Given the description of an element on the screen output the (x, y) to click on. 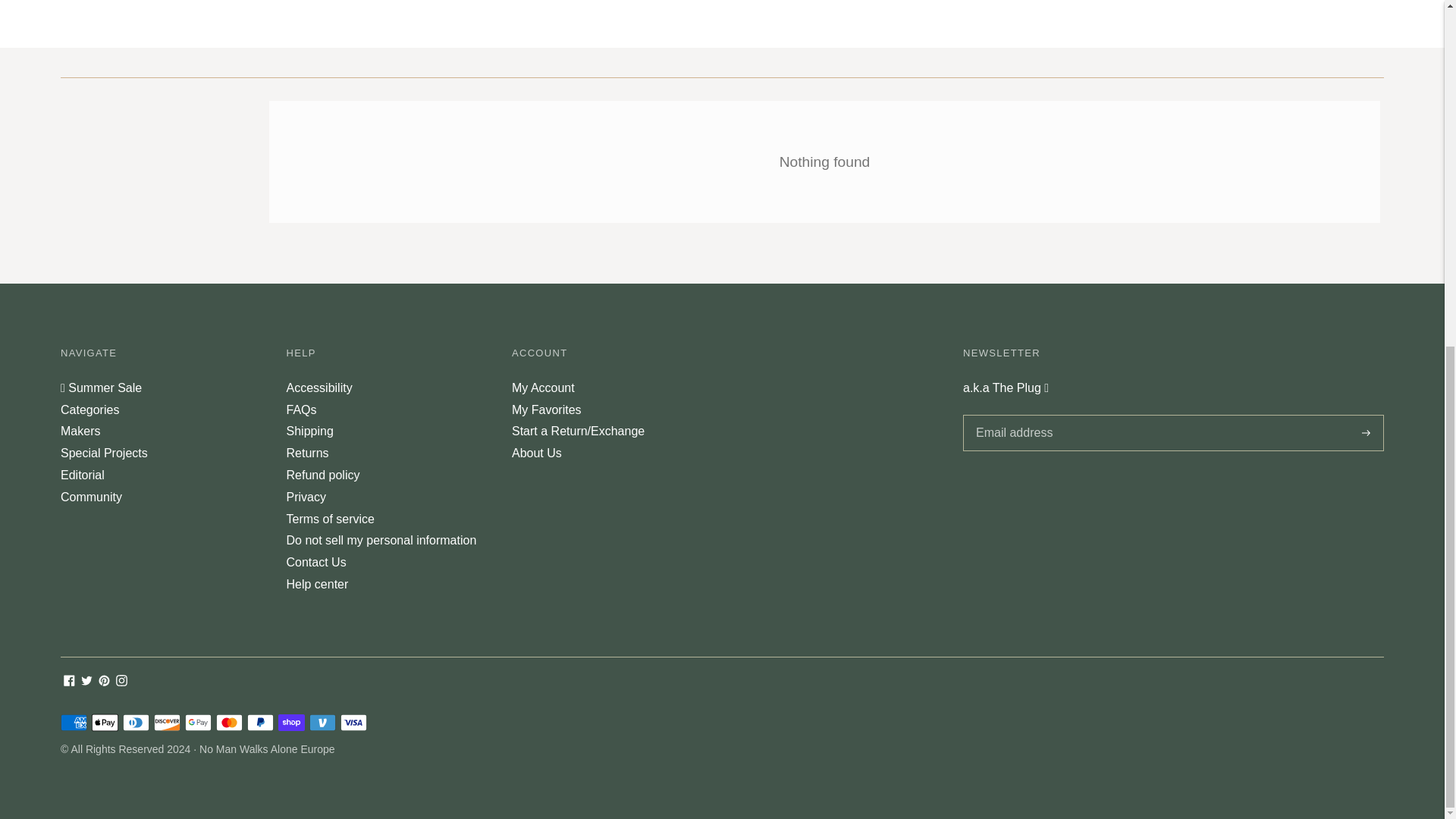
Google Pay (197, 722)
Mastercard (229, 722)
Apple Pay (104, 722)
American Express (74, 722)
No Man Walks Alone Europe (266, 748)
Discover (167, 722)
Diners Club (135, 722)
